Given the description of an element on the screen output the (x, y) to click on. 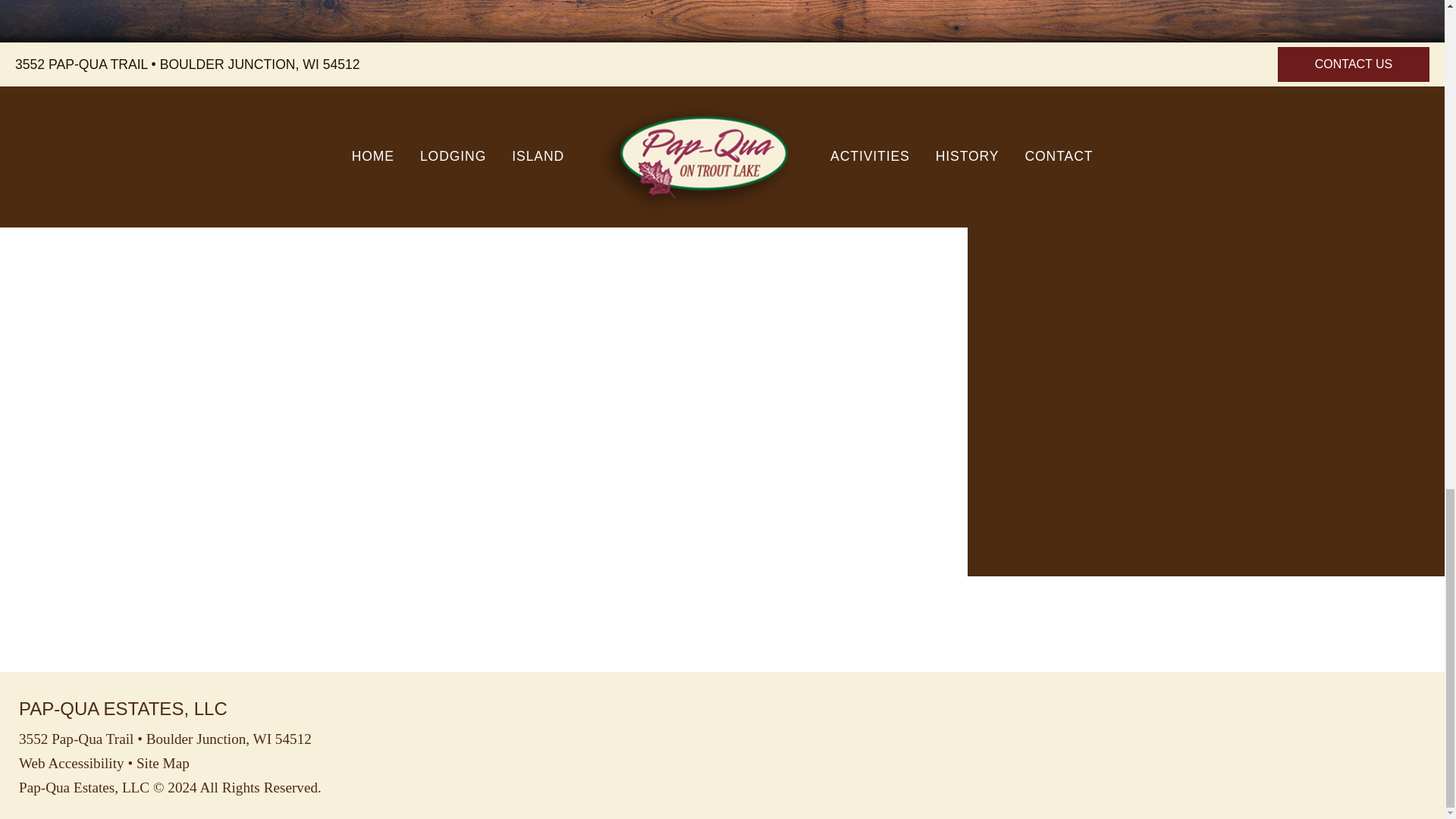
Web Accessibility (70, 763)
VIEW OUR HISTORY (361, 18)
Site Map (162, 763)
